Given the description of an element on the screen output the (x, y) to click on. 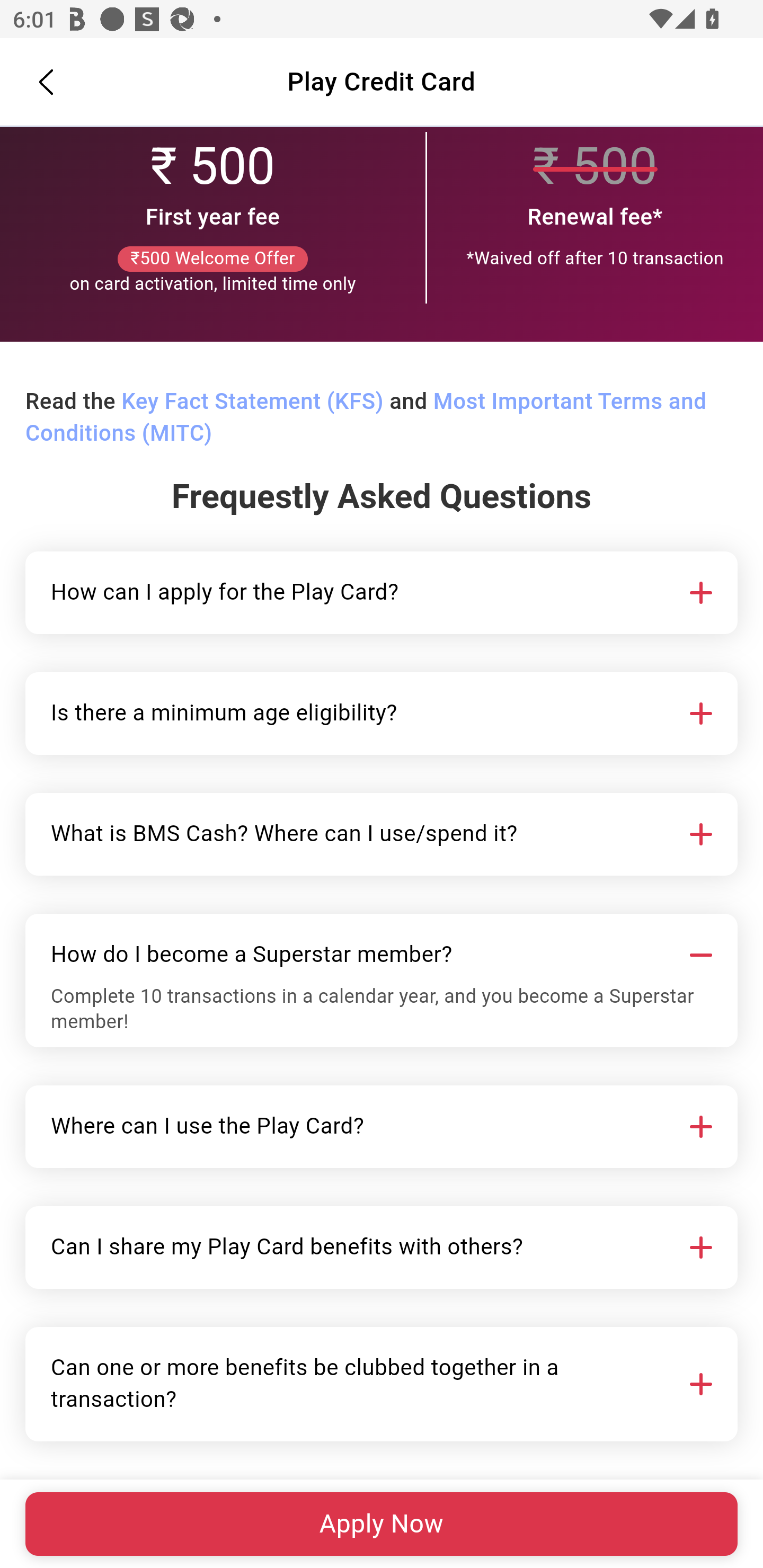
Most Important Terms and Conditions (MITC) (366, 418)
Key Fact Statement (KFS) (252, 402)
